Given the description of an element on the screen output the (x, y) to click on. 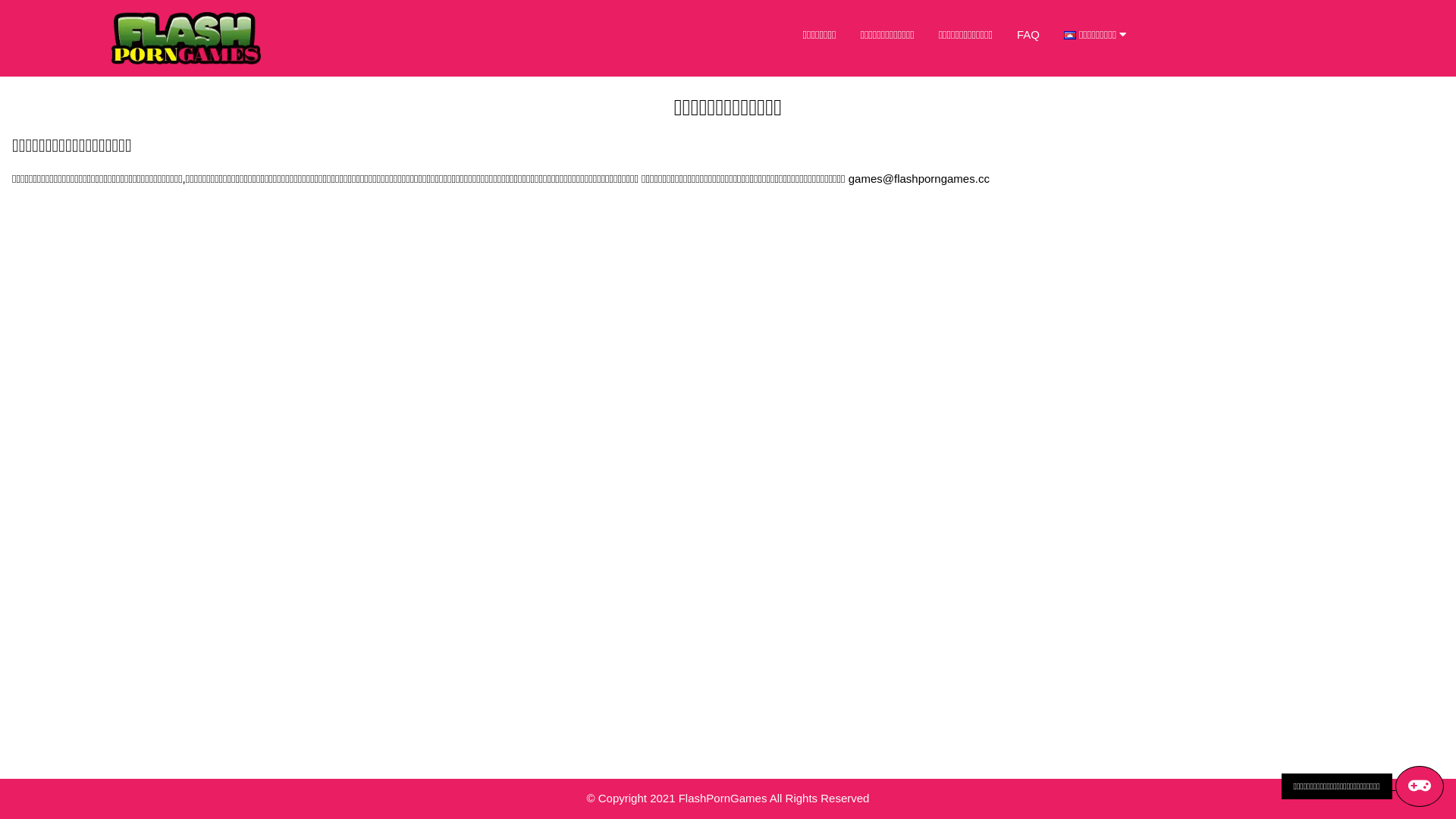
FAQ Element type: text (1027, 35)
